Given the description of an element on the screen output the (x, y) to click on. 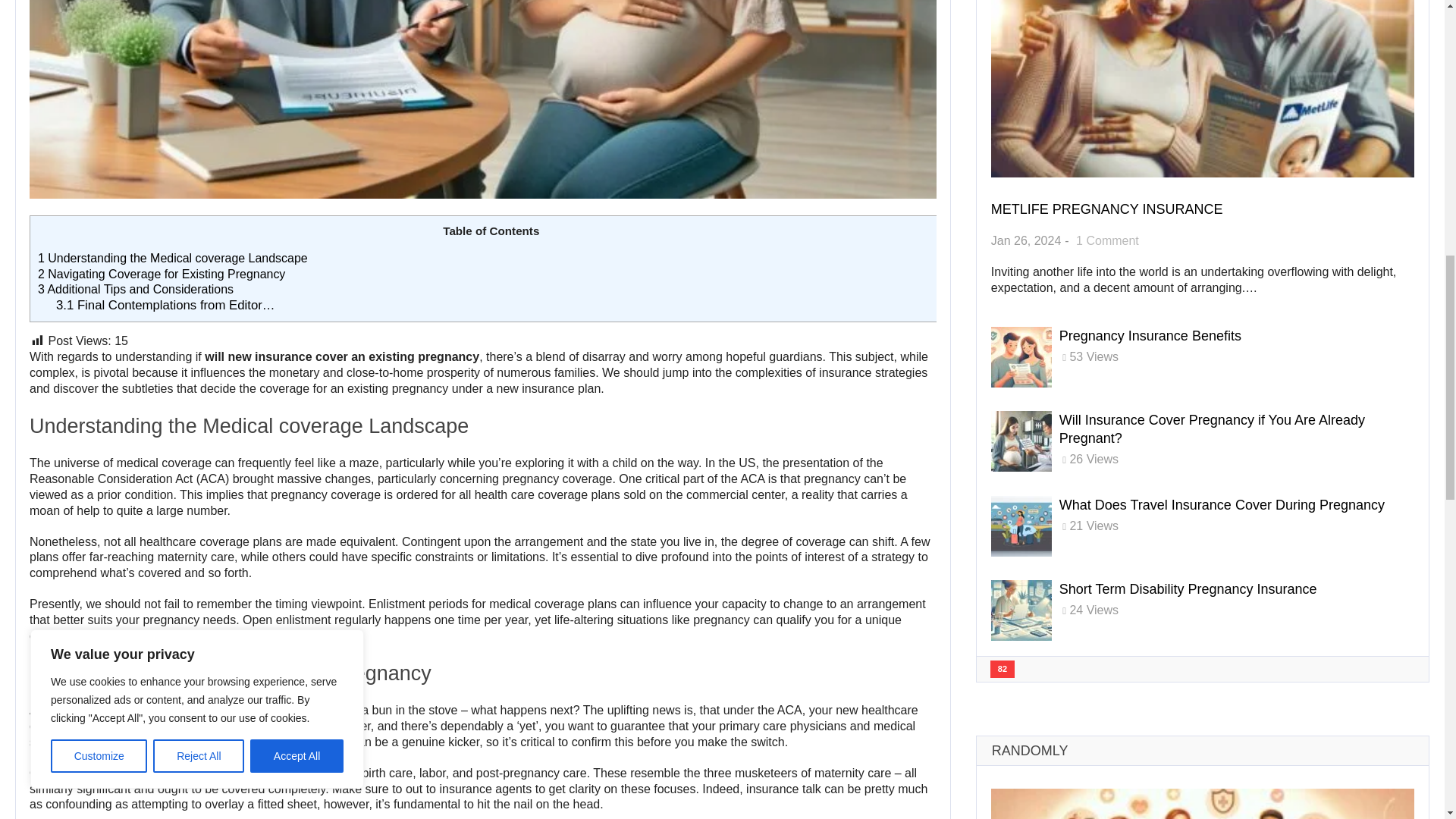
1 Understanding the Medical coverage Landscape (1106, 240)
MetLife Pregnancy Insurance (172, 257)
3 Additional Tips and Considerations (1107, 209)
2 Navigating Coverage for Existing Pregnancy (134, 288)
Will Insurance Cover Pregnancy if You Are Already Pregnant? (161, 273)
Will New Insurance Cover an Existing Pregnancy? (1212, 428)
Short Term Disability Pregnancy Insurance (1150, 335)
METLIFE PREGNANCY INSURANCE (1188, 589)
What Does Travel Insurance Cover During Pregnancy (1107, 209)
